Given the description of an element on the screen output the (x, y) to click on. 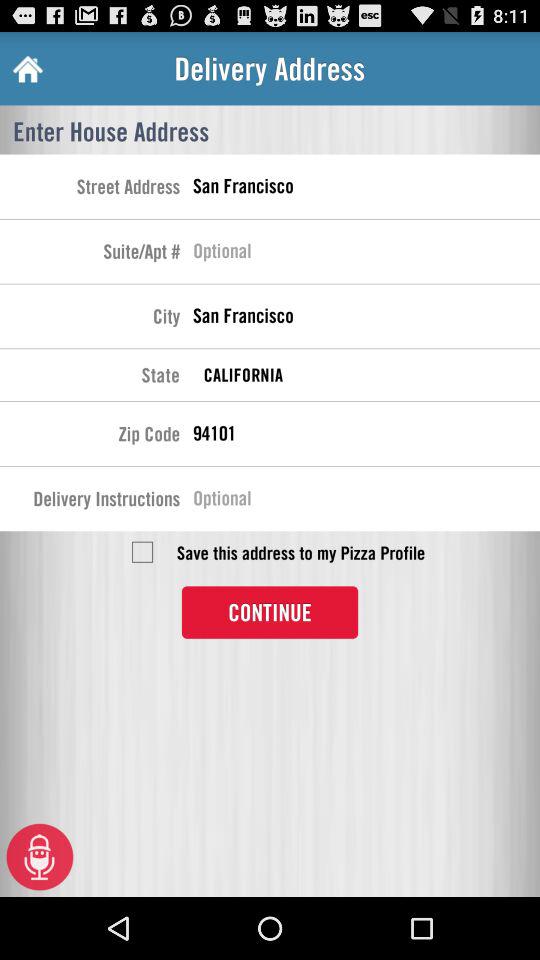
add instructions for delivery (366, 501)
